Given the description of an element on the screen output the (x, y) to click on. 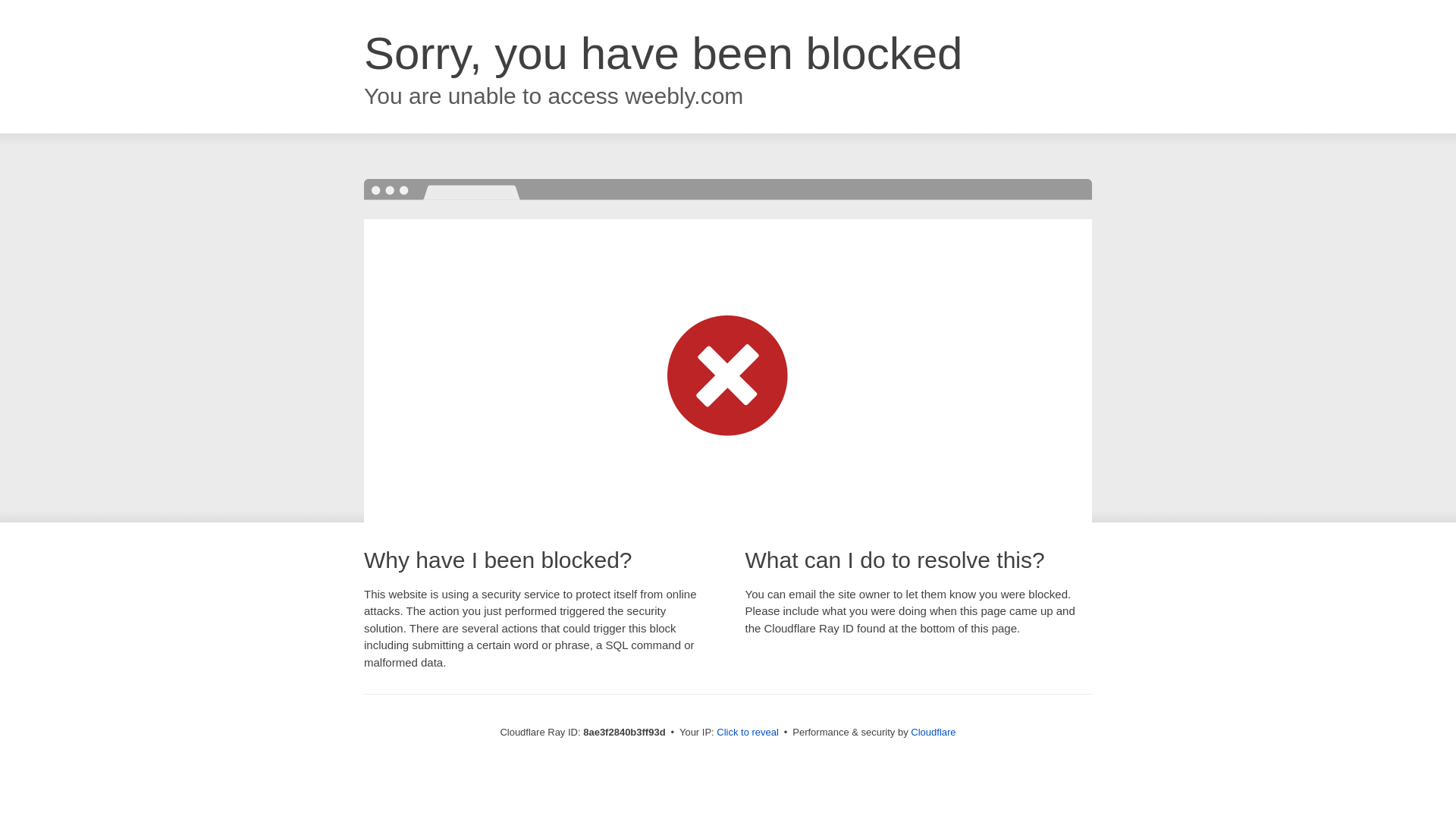
Cloudflare (933, 731)
Click to reveal (747, 732)
